Given the description of an element on the screen output the (x, y) to click on. 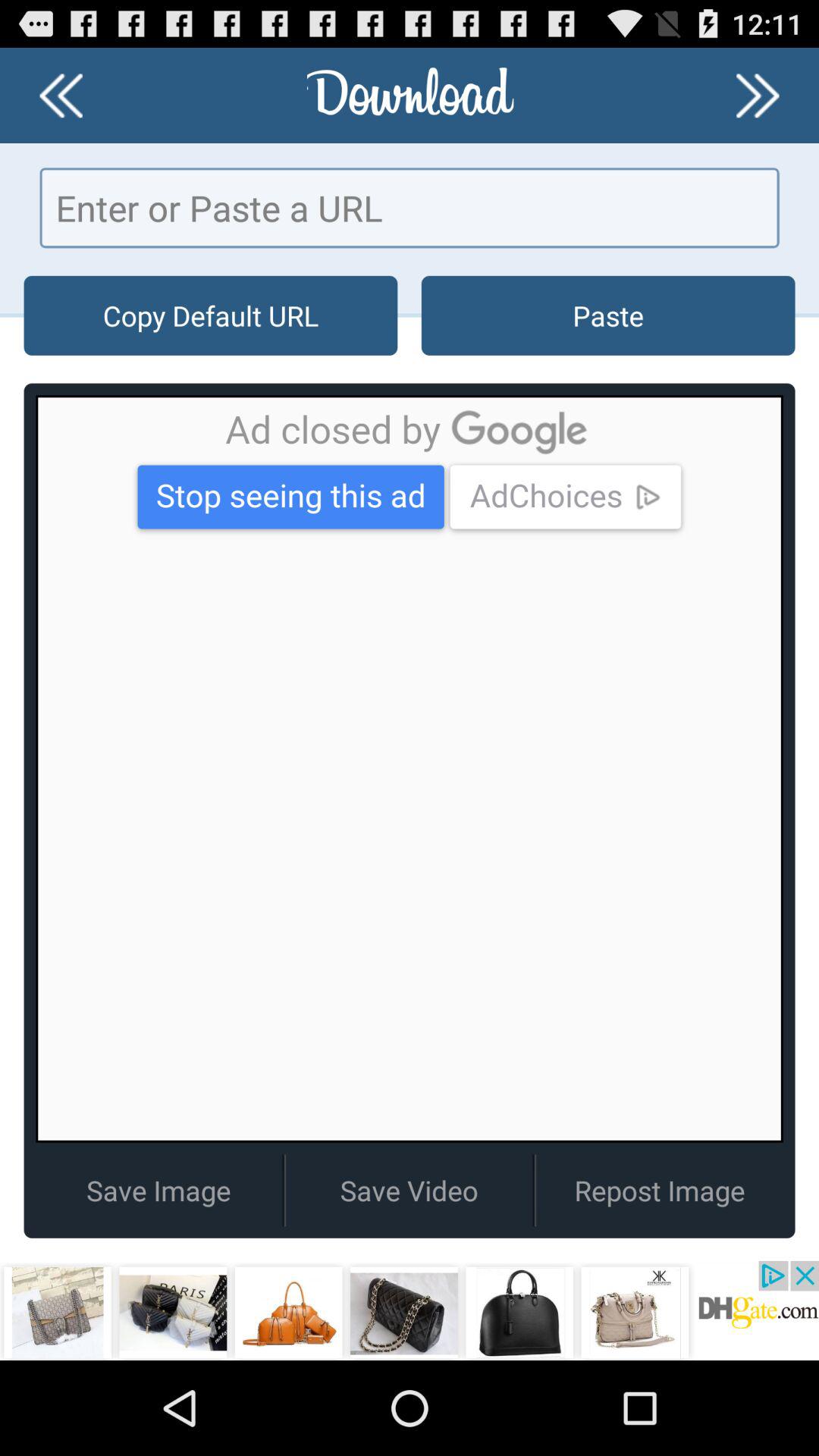
go to previous (61, 95)
